Given the description of an element on the screen output the (x, y) to click on. 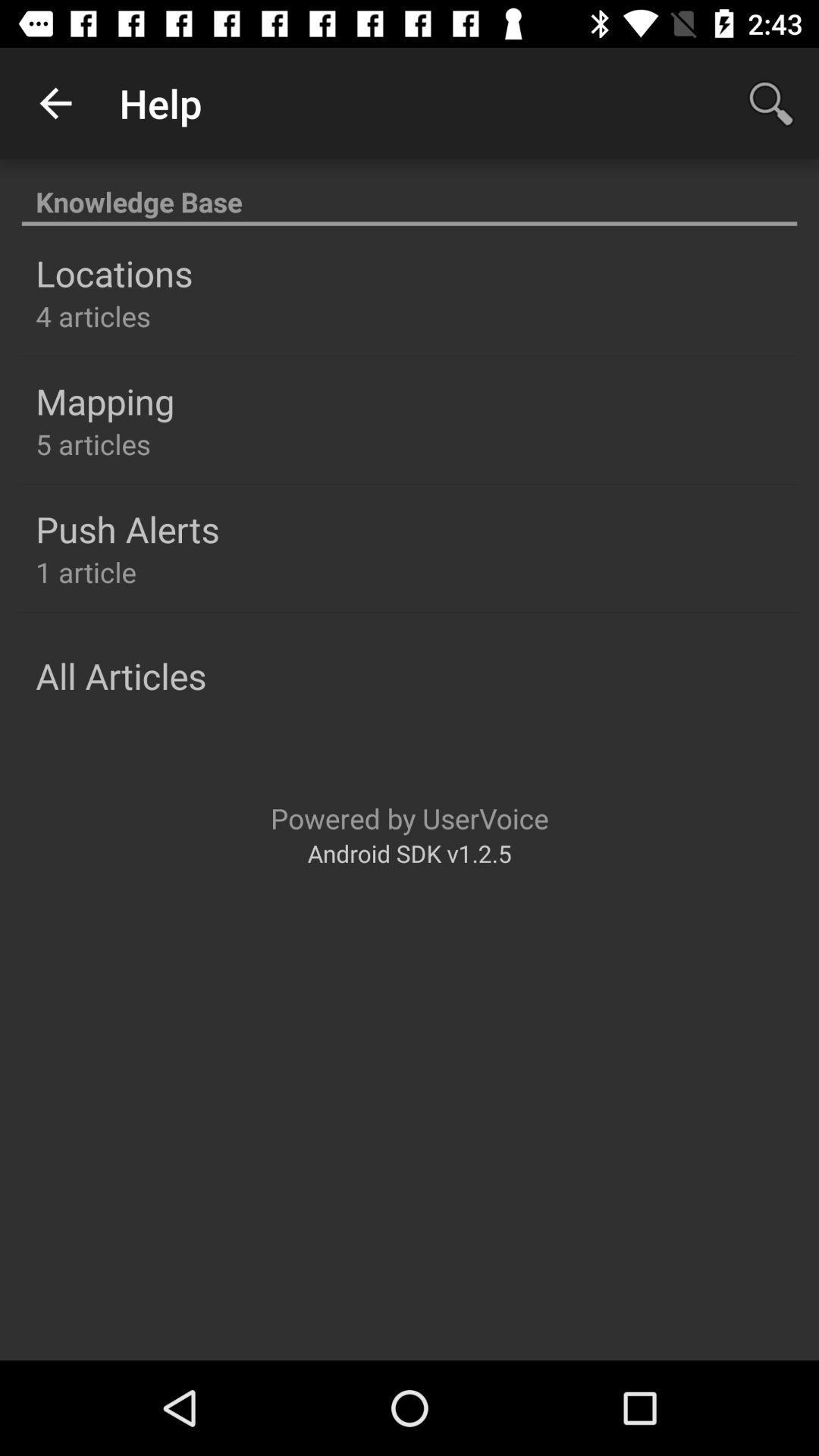
choose the icon to the right of help (771, 103)
